Given the description of an element on the screen output the (x, y) to click on. 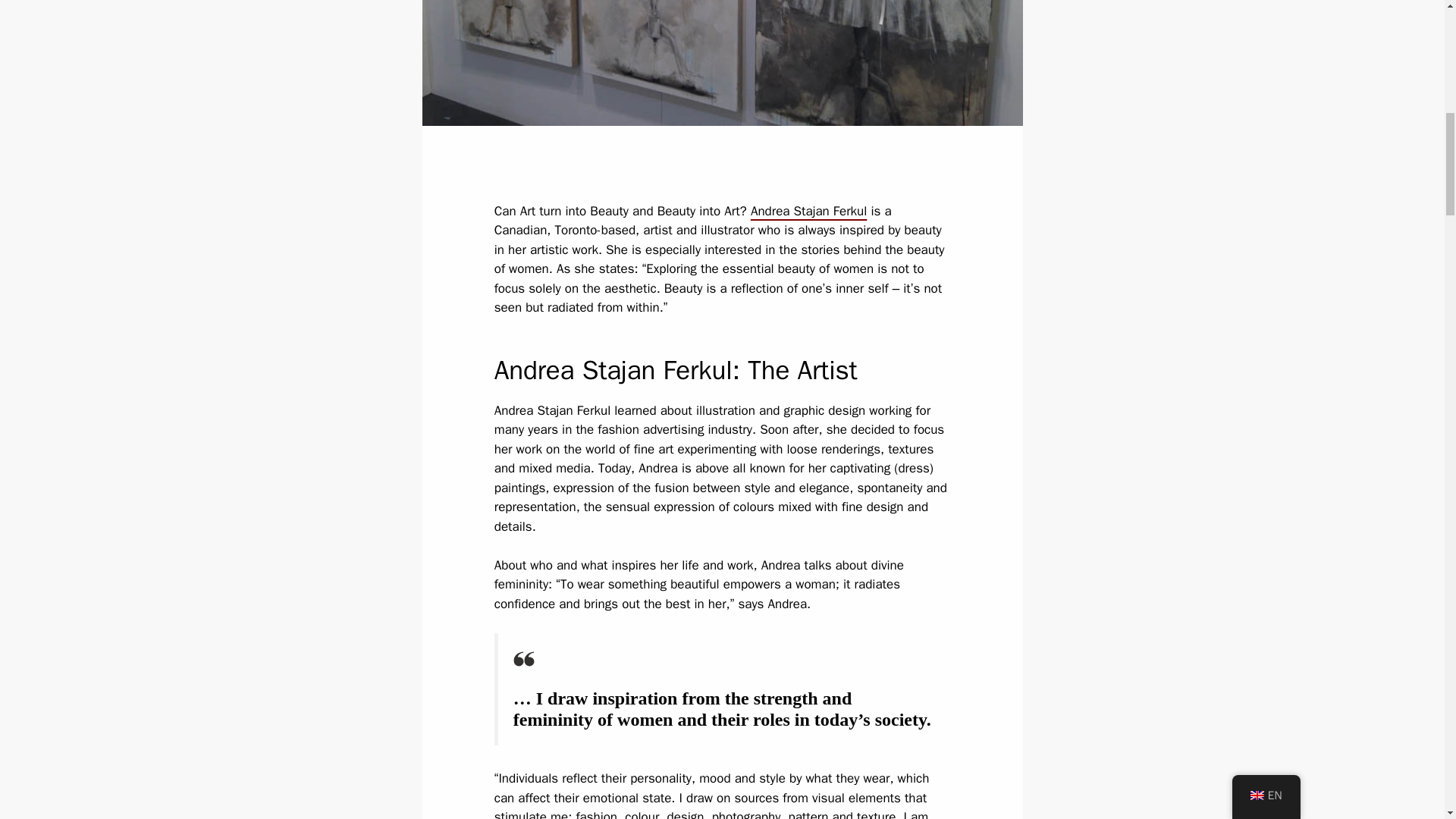
Andrea Stajan Ferkul (808, 211)
